Given the description of an element on the screen output the (x, y) to click on. 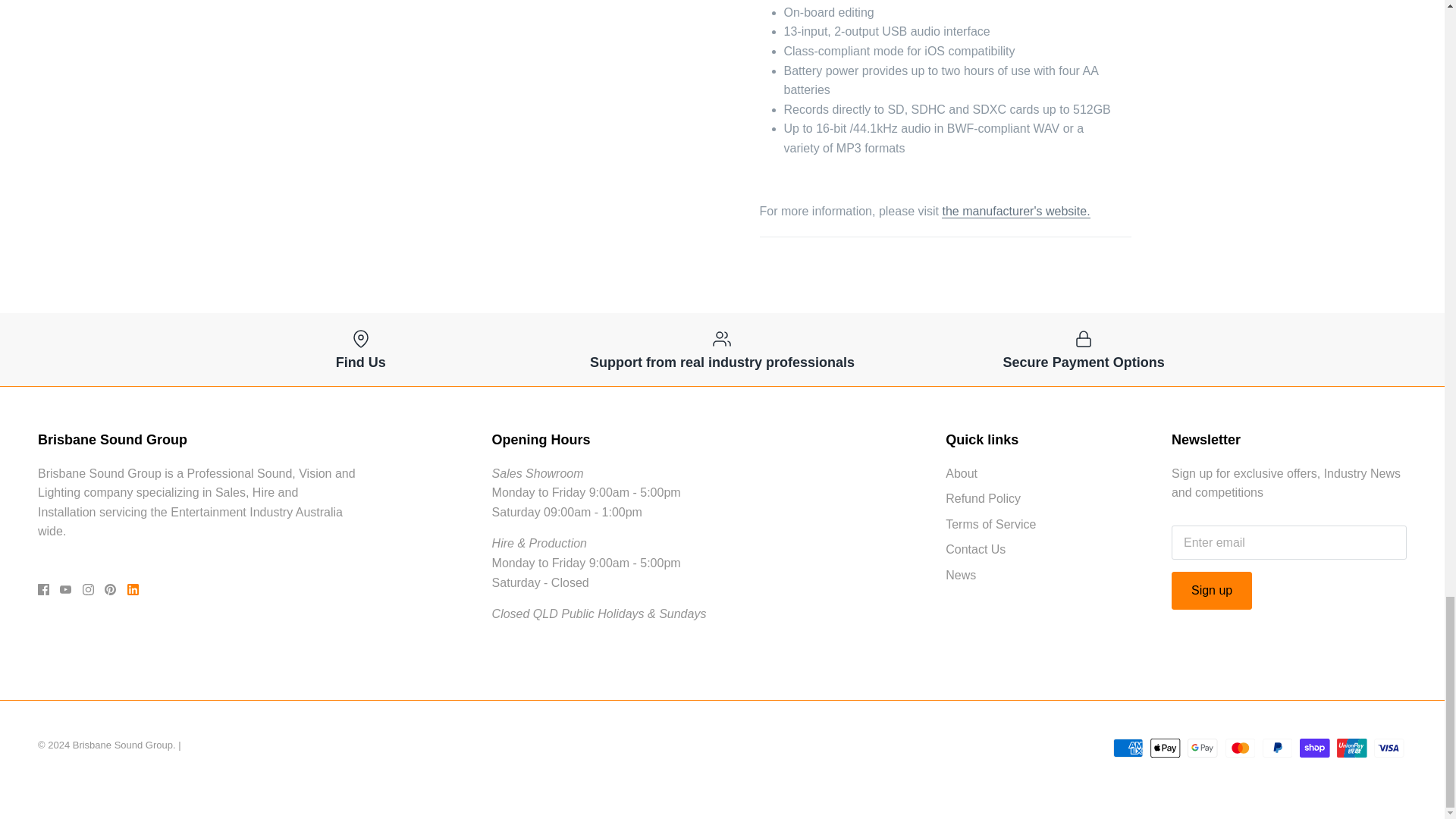
Youtube (65, 589)
Instagram (88, 589)
American Express (1127, 747)
Facebook (43, 589)
Pinterest (110, 589)
